Given the description of an element on the screen output the (x, y) to click on. 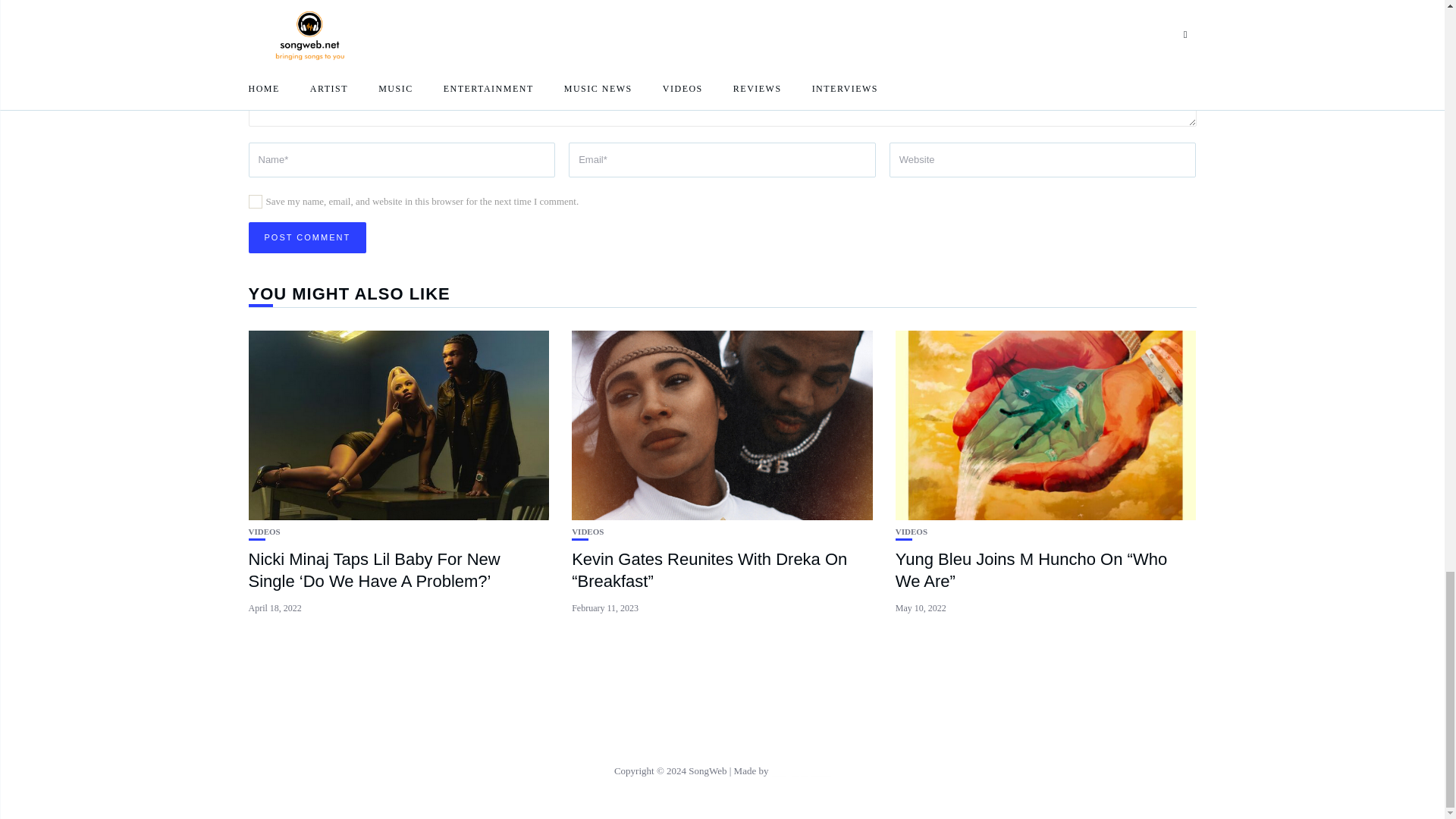
Post Comment (307, 237)
VIDEOS (588, 531)
Privacy Policy (722, 735)
yes (255, 201)
Post Comment (307, 237)
VIDEOS (264, 531)
VIDEOS (911, 531)
BiographyWeb (800, 770)
